Given the description of an element on the screen output the (x, y) to click on. 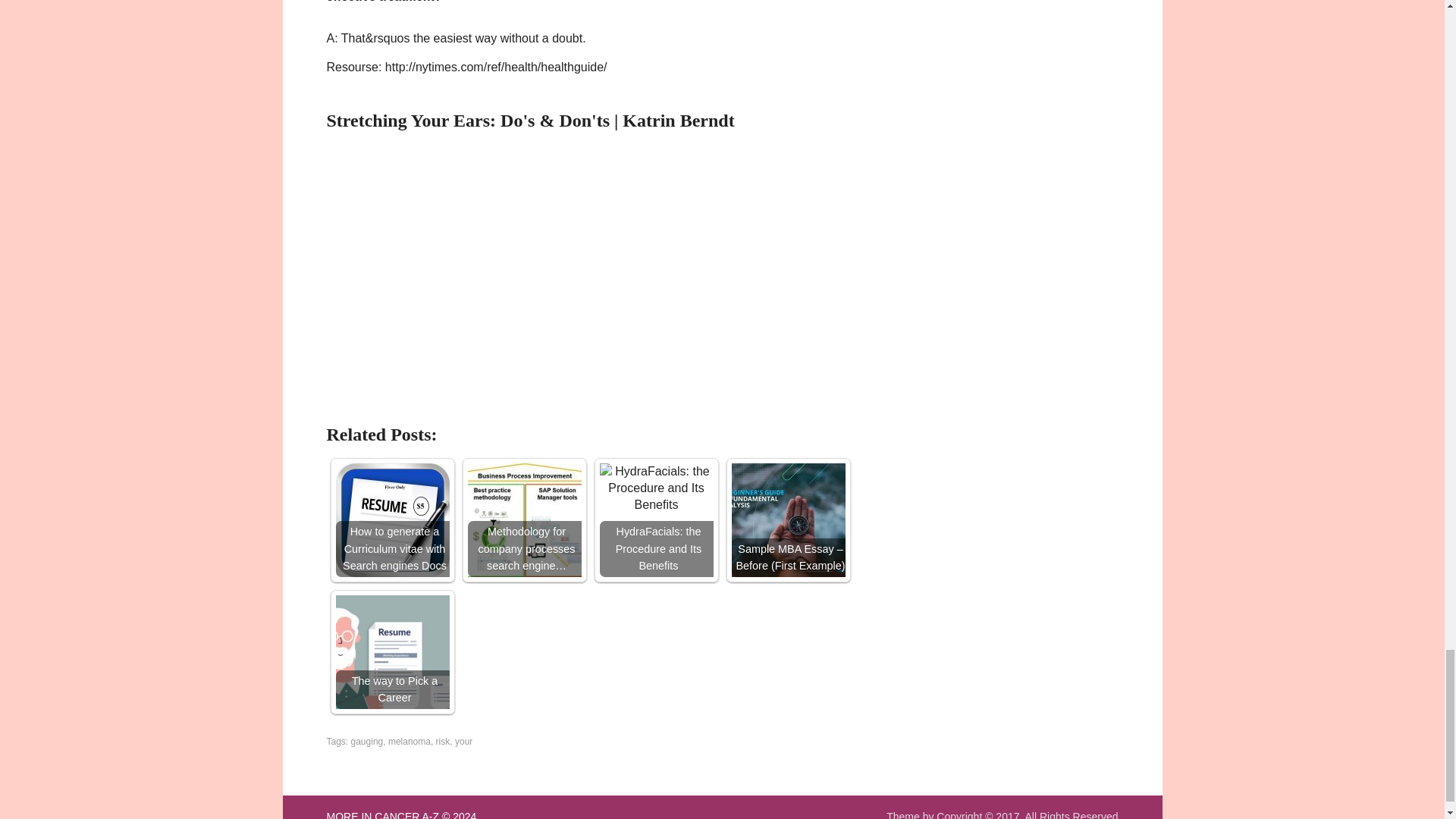
How to generate a Curriculum vitae with Search engines Docs (391, 520)
HydraFacials: the Procedure and Its Benefits (655, 488)
gauging (367, 741)
risk (442, 741)
The way to Pick a Career (391, 652)
your (462, 741)
How to generate a Curriculum vitae with Search engines Docs (391, 520)
HydraFacials: the Procedure and Its Benefits (655, 520)
melanoma (409, 741)
The way to Pick a Career (391, 652)
